Given the description of an element on the screen output the (x, y) to click on. 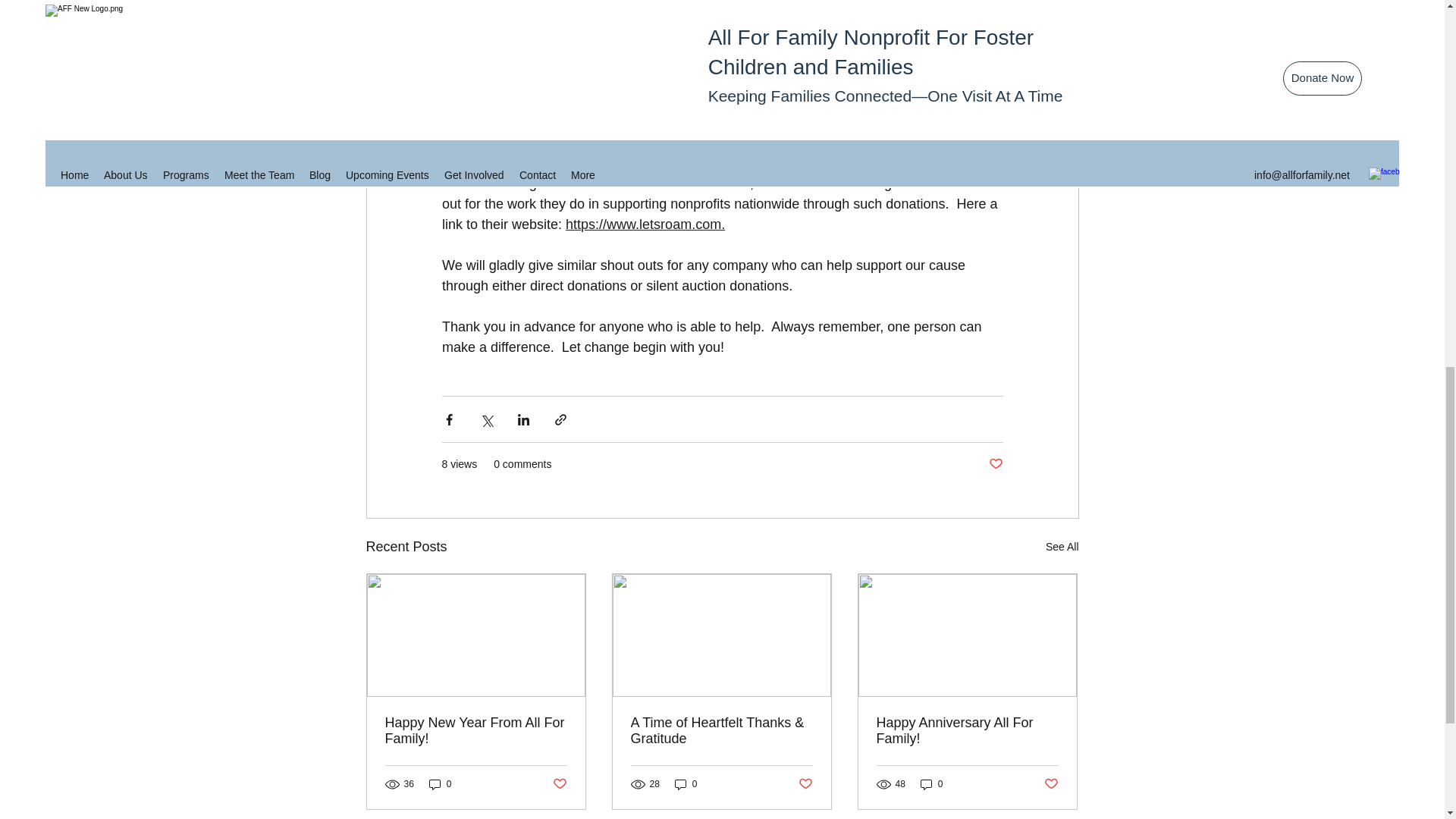
Happy Anniversary All For Family! (967, 730)
Post not marked as liked (1050, 784)
0 (440, 784)
0 (685, 784)
Happy New Year From All For Family! (476, 730)
Post not marked as liked (558, 784)
0 (931, 784)
See All (1061, 546)
Post not marked as liked (804, 784)
Post not marked as liked (995, 464)
